Given the description of an element on the screen output the (x, y) to click on. 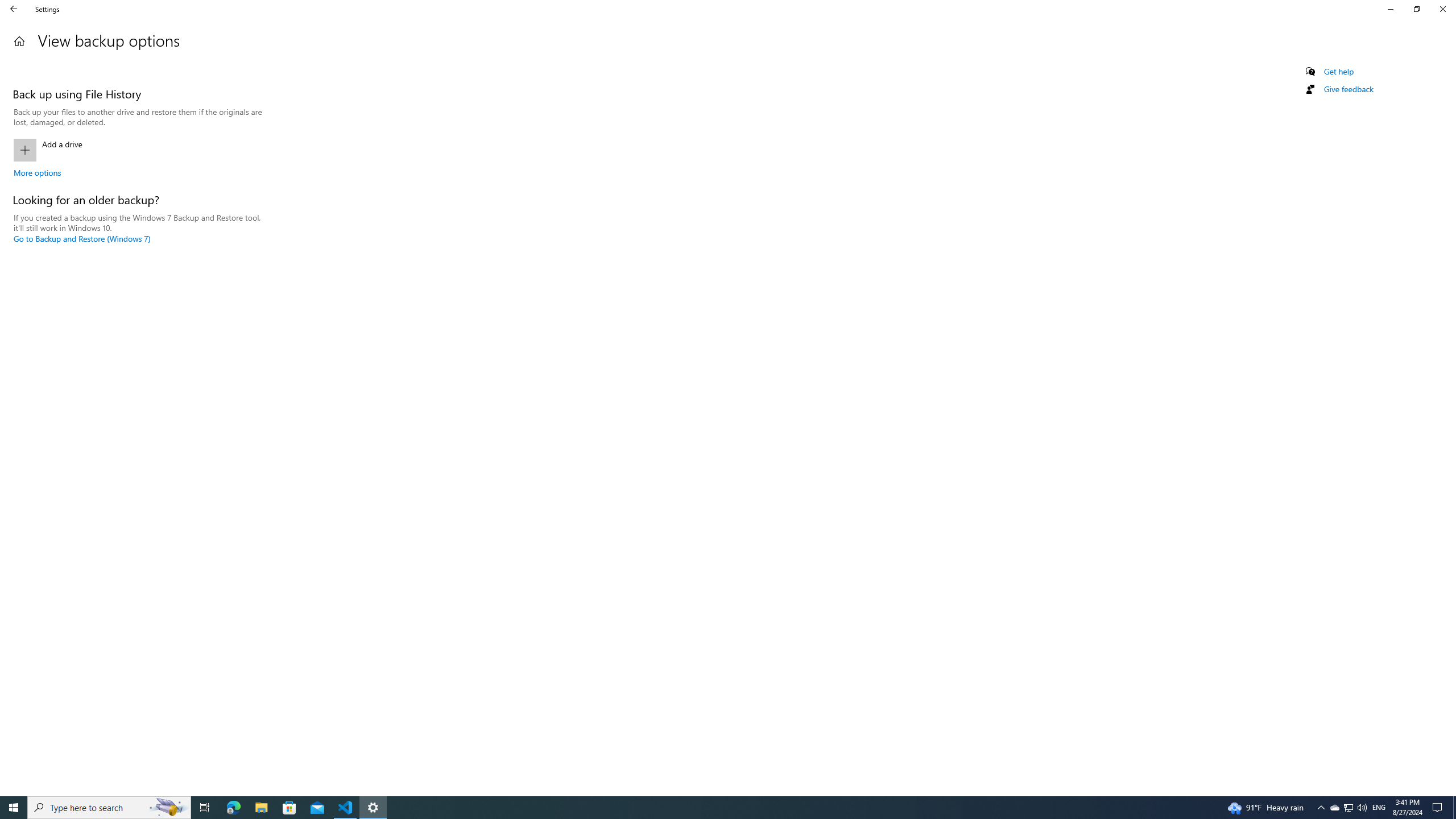
Tray Input Indicator - English (United States) (1378, 807)
Get help (1338, 71)
Running applications (706, 807)
Give feedback (1348, 88)
Settings - 1 running window (373, 807)
Add a drive (137, 149)
